Given the description of an element on the screen output the (x, y) to click on. 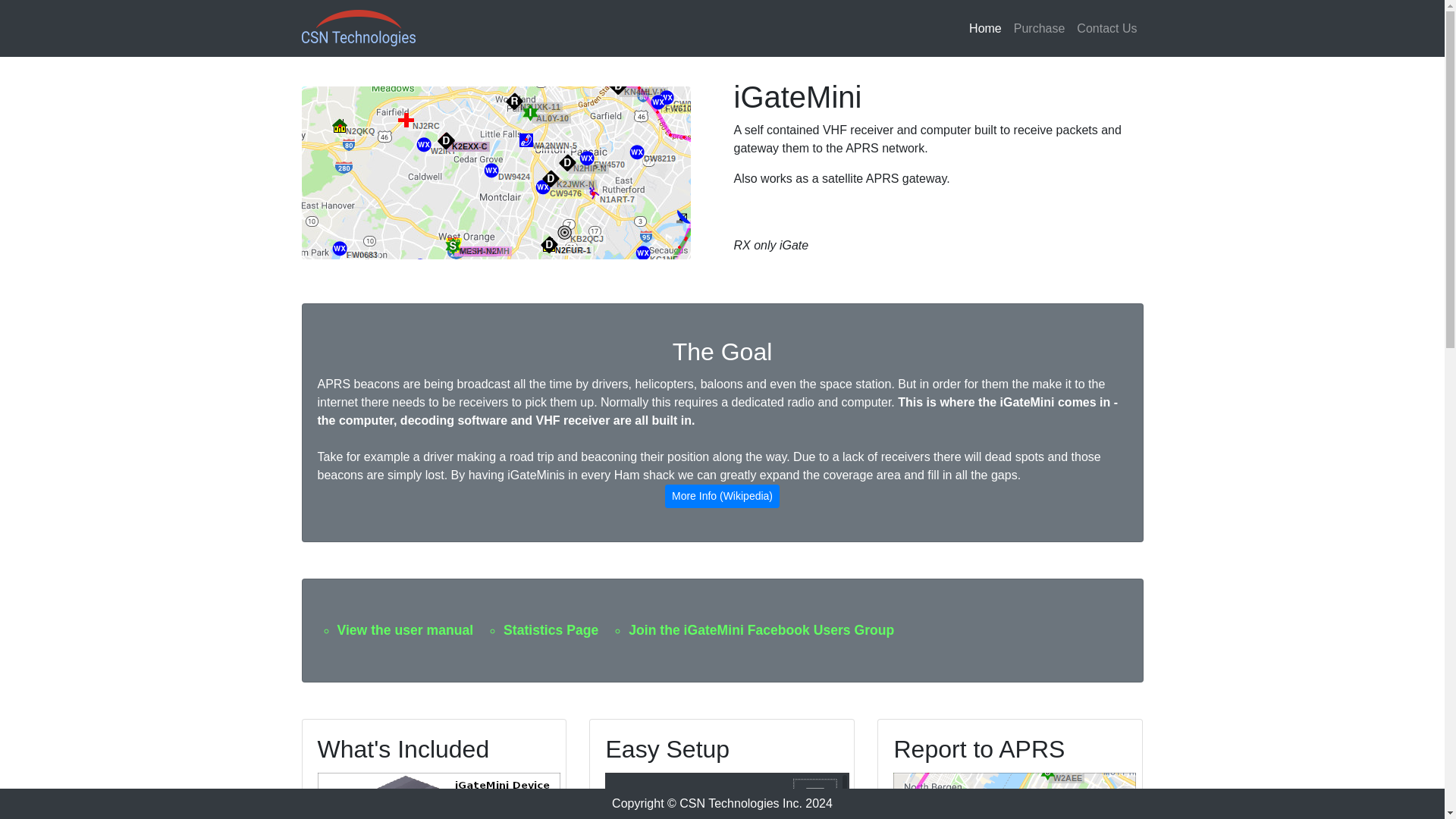
Purchase (1039, 28)
View the user manual (404, 630)
Statistics Page (550, 630)
Join the iGateMini Facebook Users Group (760, 630)
Contact Us (1106, 28)
